Given the description of an element on the screen output the (x, y) to click on. 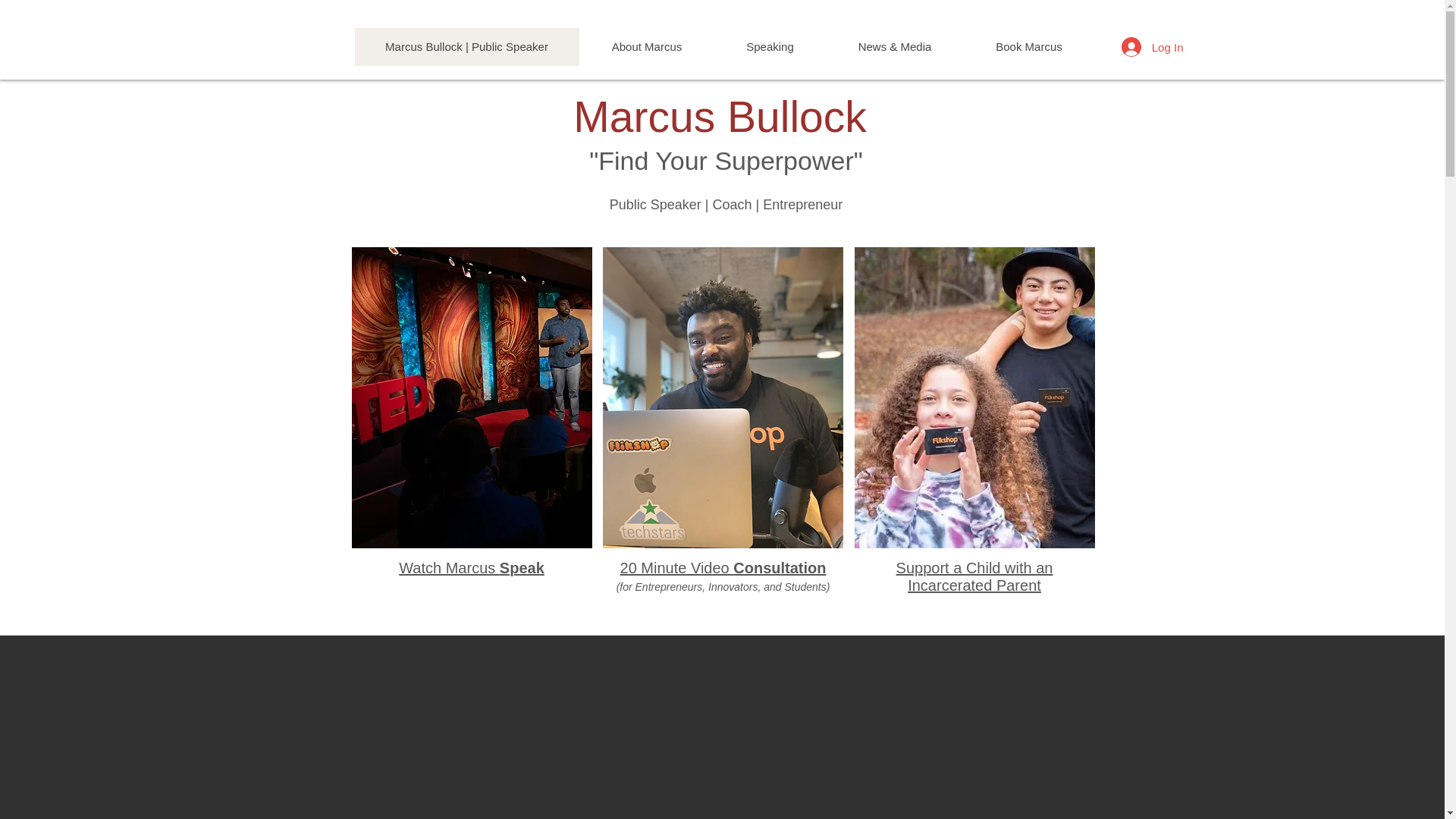
Watch Marcus Speak (471, 567)
Speaking (769, 46)
About Marcus (646, 46)
Log In (1151, 46)
Support a Child with an Incarcerated Parent (974, 576)
20 Minute Video Consultation (723, 567)
Book Marcus (1027, 46)
